Given the description of an element on the screen output the (x, y) to click on. 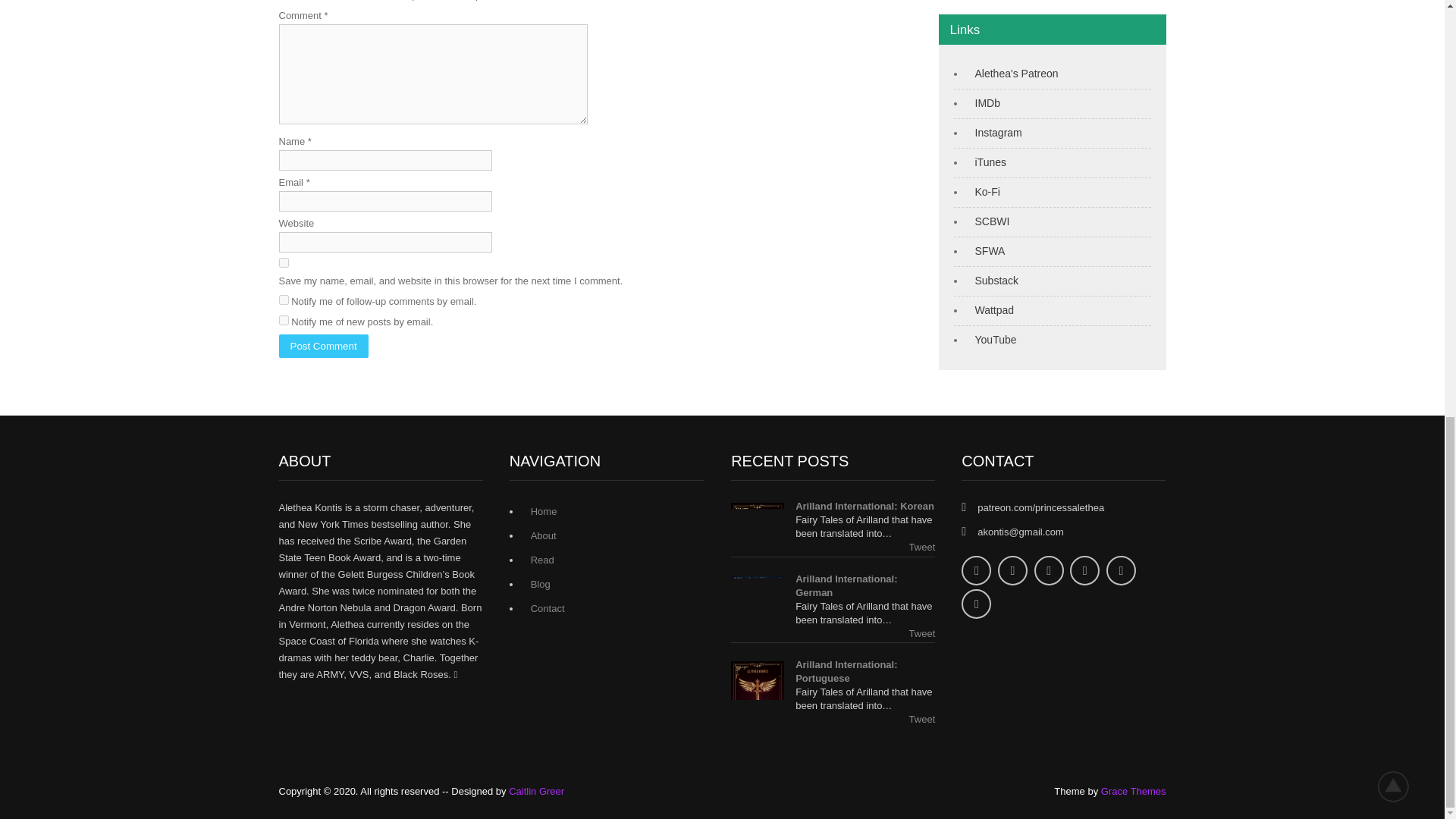
Science Fiction Writers of America (987, 250)
Post Comment (323, 345)
yes (283, 262)
subscribe (283, 299)
subscribe (283, 320)
